Given the description of an element on the screen output the (x, y) to click on. 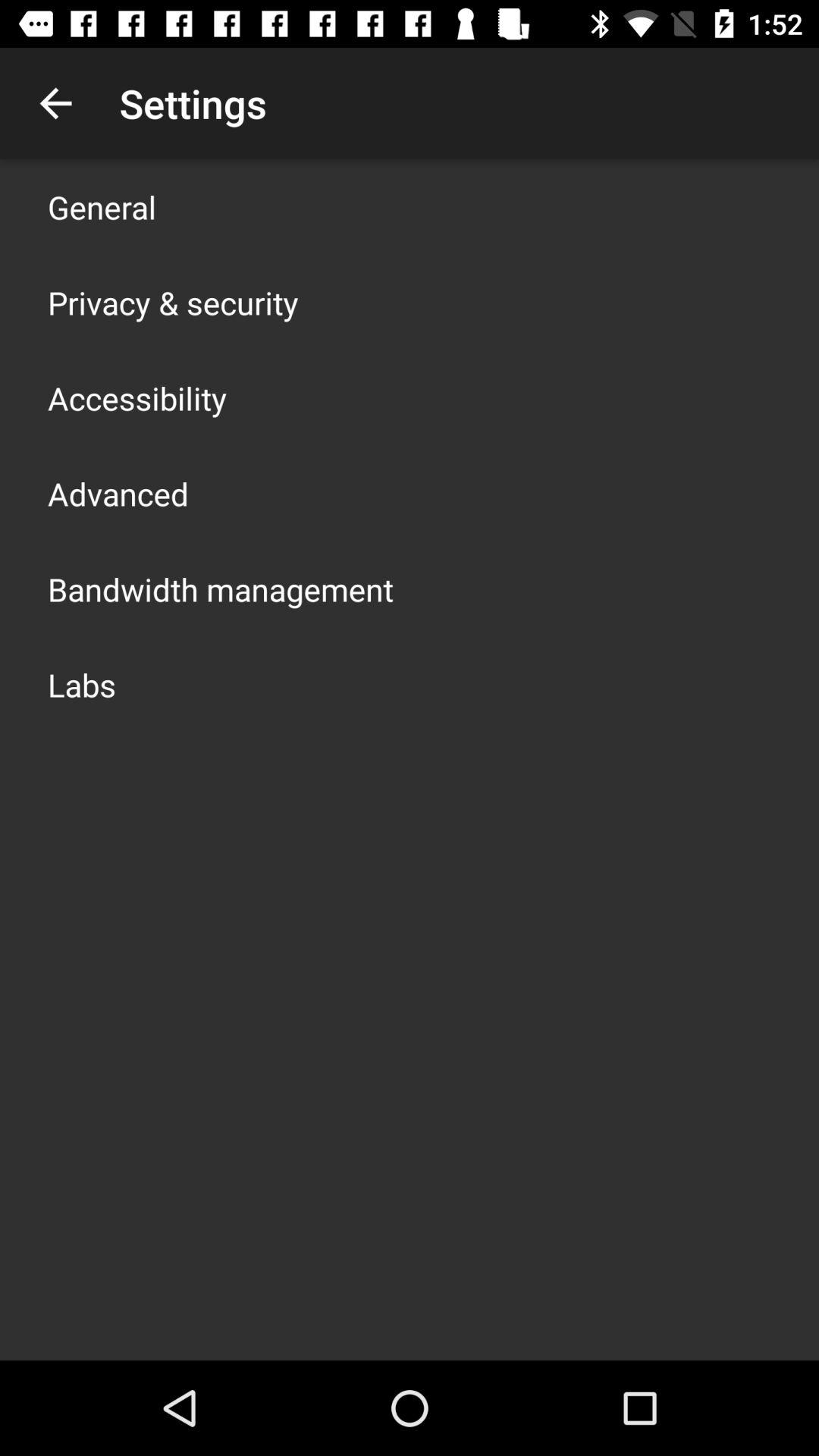
jump to general item (101, 206)
